Given the description of an element on the screen output the (x, y) to click on. 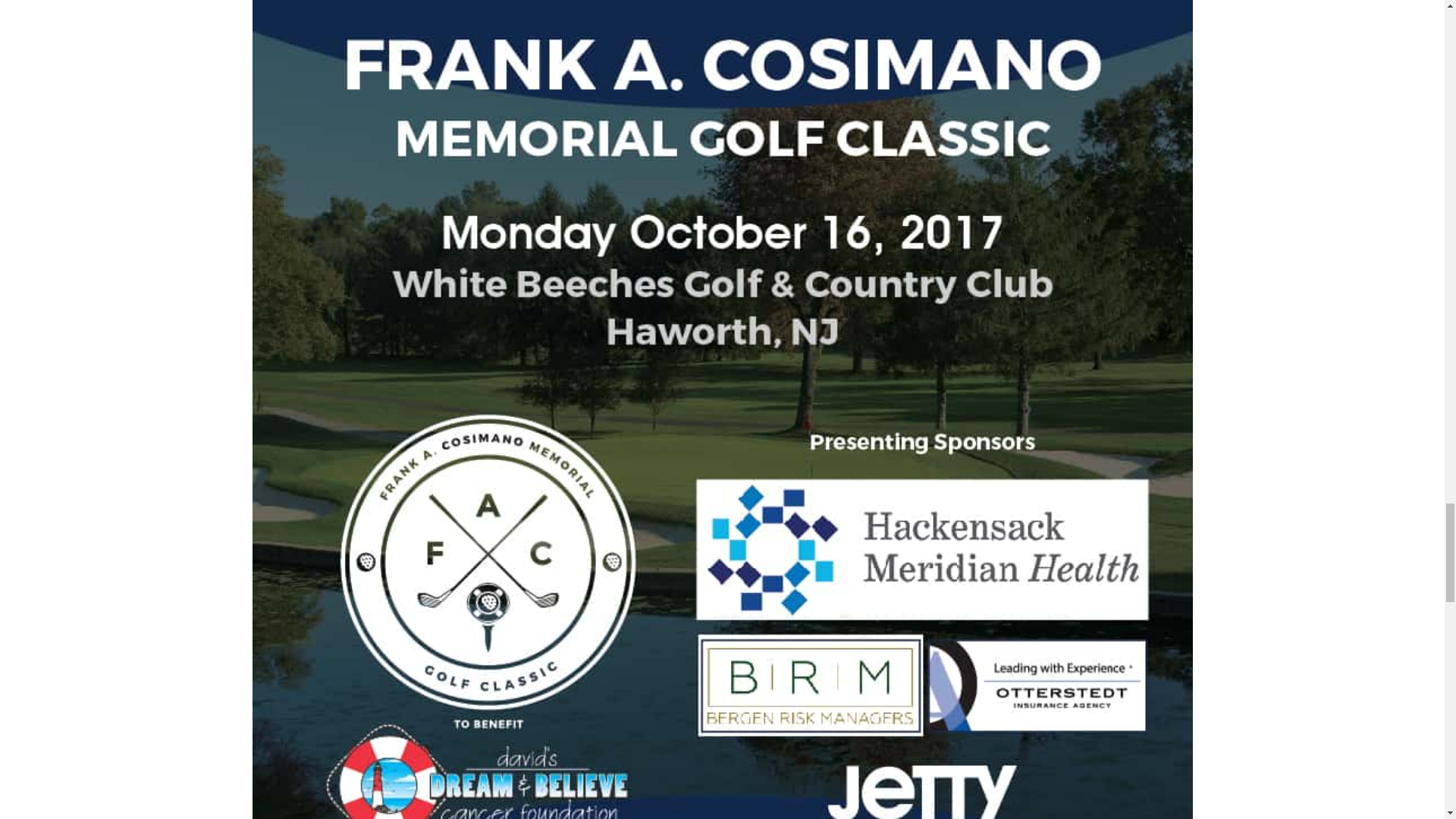
2nd Annual Frank A. Cosimano Memorial Golf Classic (721, 450)
